Given the description of an element on the screen output the (x, y) to click on. 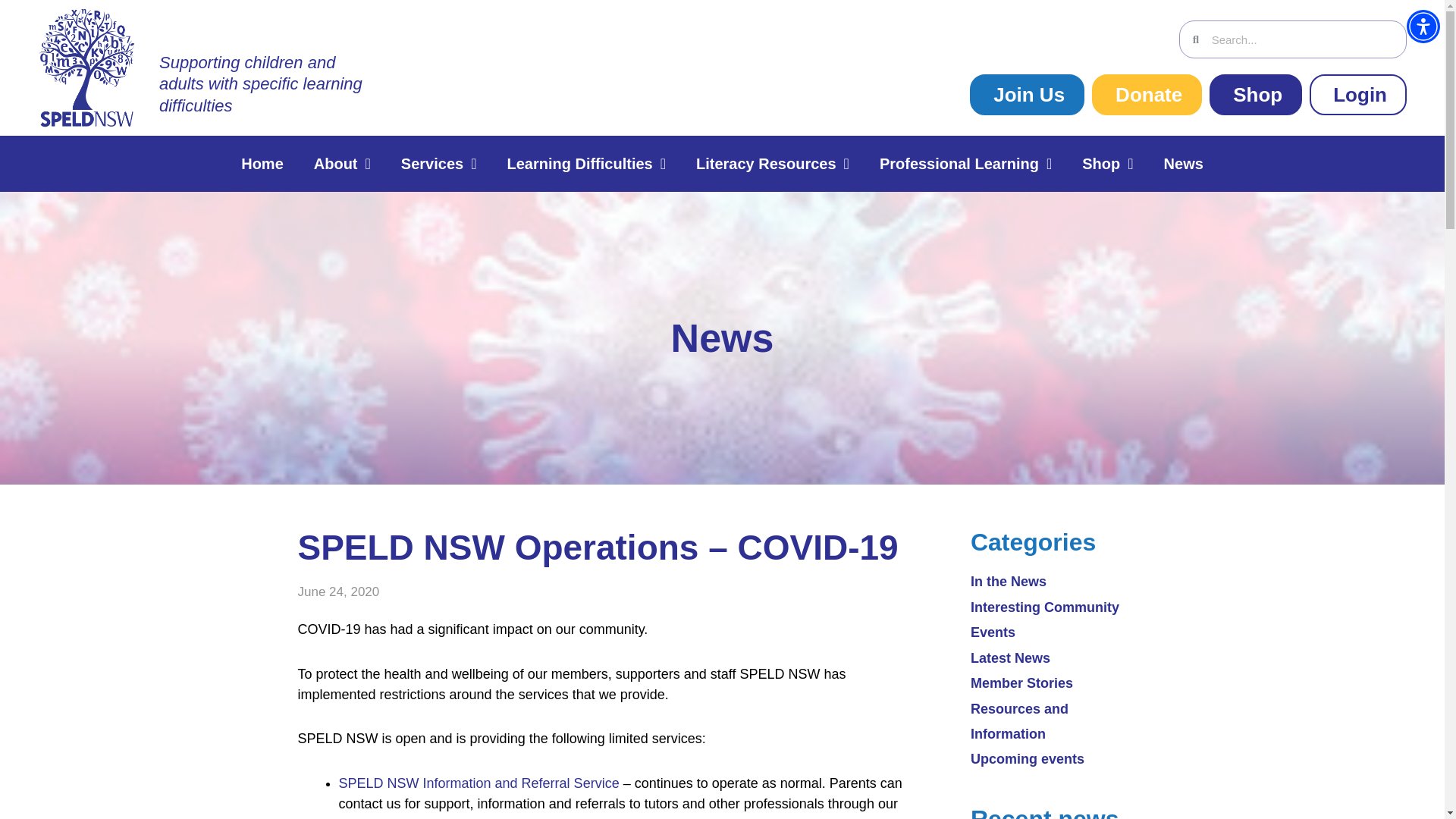
Learning Difficulties (586, 163)
Shop (1255, 94)
About (341, 163)
Home (261, 163)
Join Us (1026, 94)
Services (438, 163)
Professional Learning (965, 163)
Donate (1147, 94)
Accessibility Menu (1422, 26)
Login (1357, 94)
Literacy Resources (772, 163)
